Given the description of an element on the screen output the (x, y) to click on. 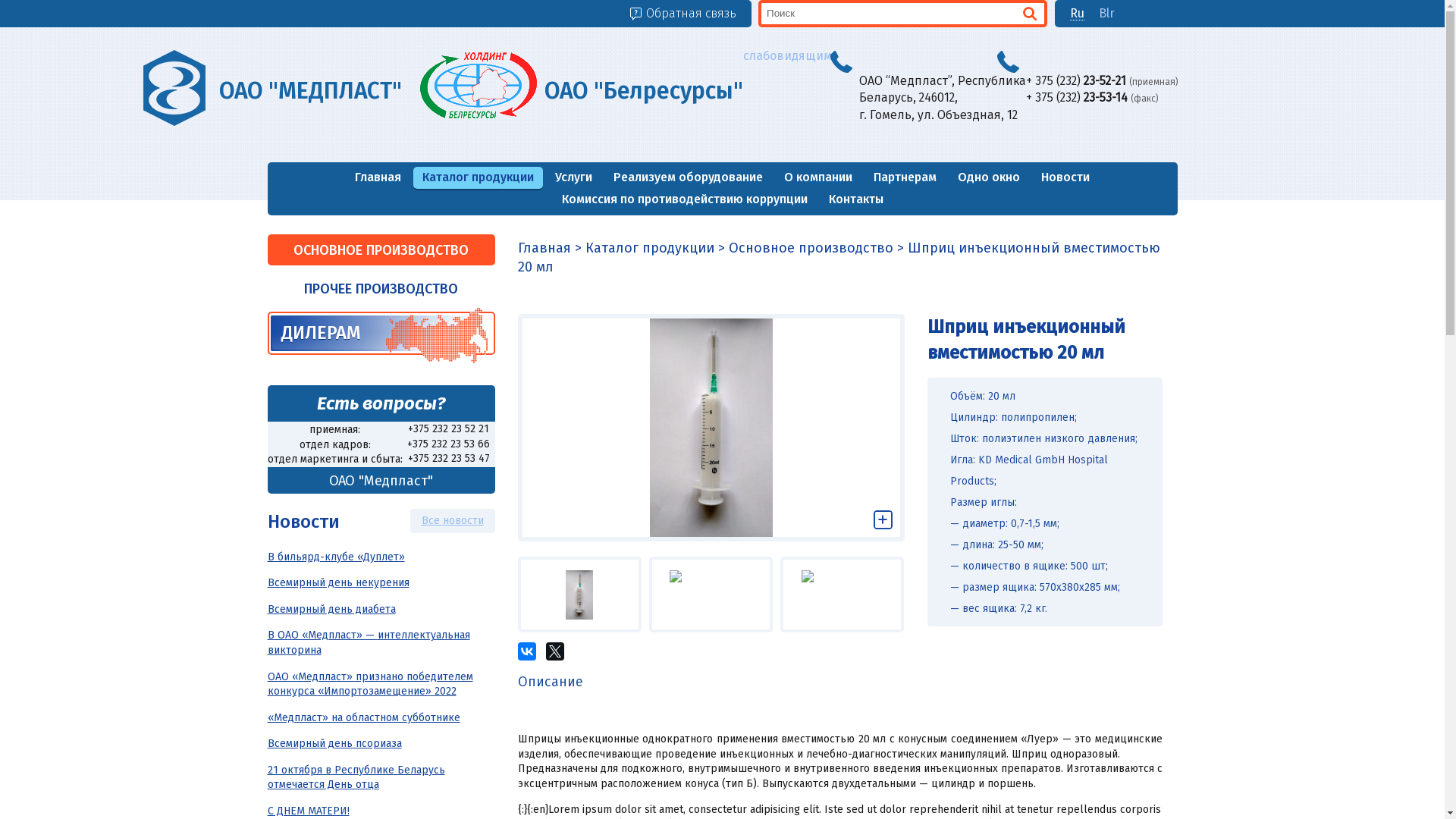
Twitter Element type: hover (555, 651)
Blr Element type: text (1106, 12)
Ru Element type: text (1077, 12)
